Given the description of an element on the screen output the (x, y) to click on. 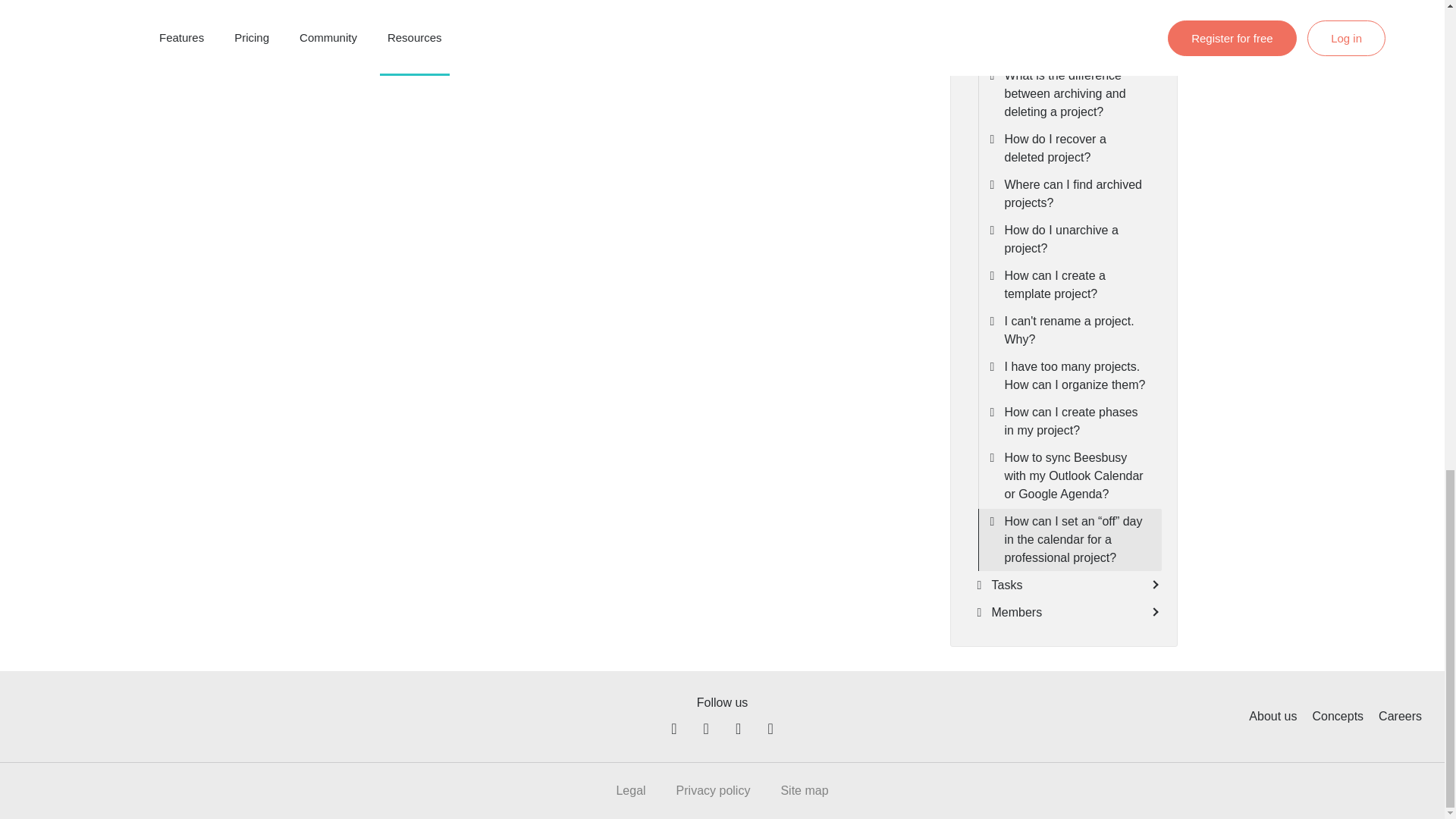
Twitter (705, 728)
Facebook (673, 728)
Linkedin (738, 728)
Youtube (770, 728)
